Given the description of an element on the screen output the (x, y) to click on. 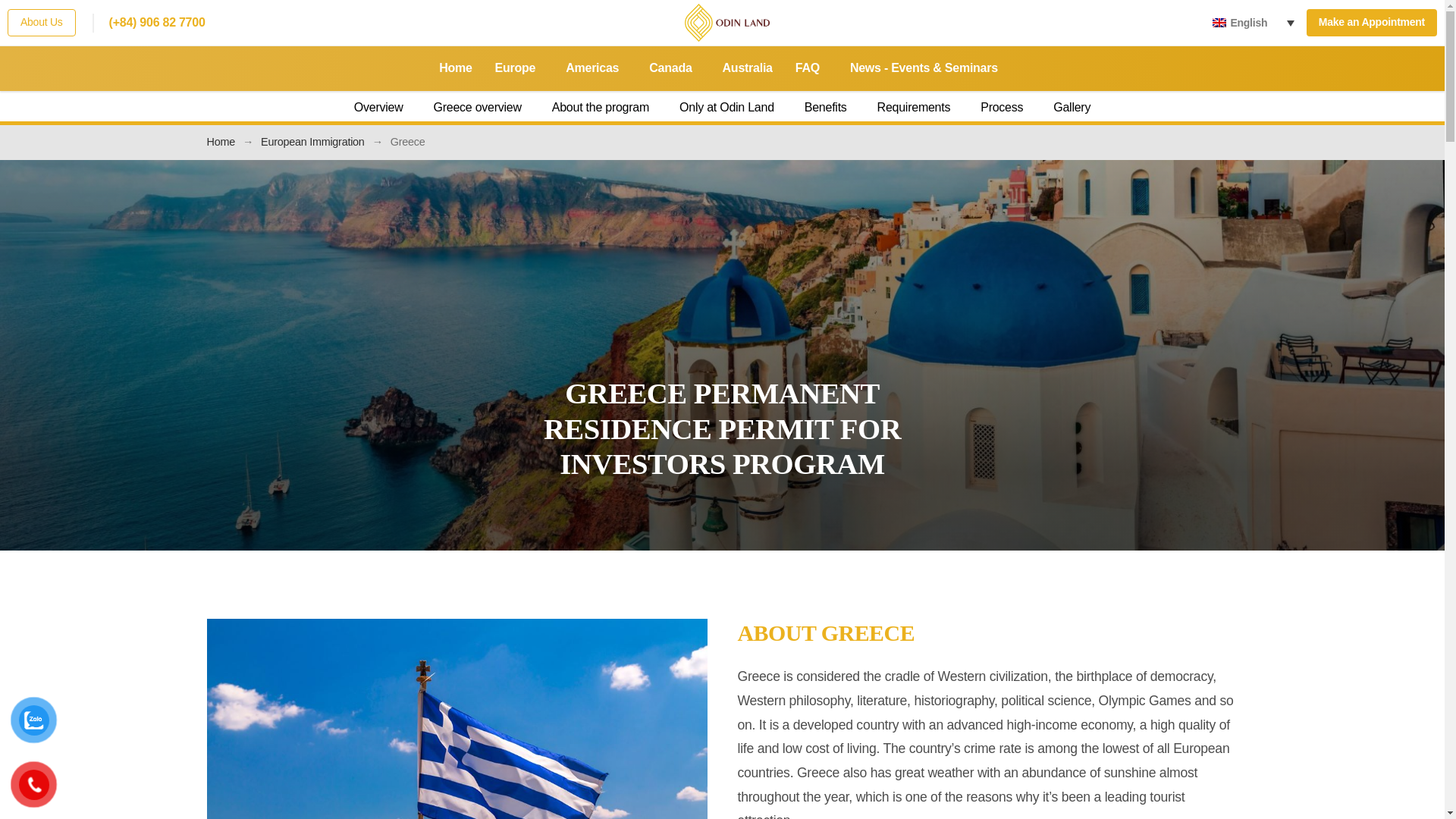
Australia (747, 67)
English (1255, 22)
About Us (41, 22)
Make an Appointment (1371, 22)
Americas (595, 67)
Canada (673, 67)
Europe (518, 67)
Home (455, 67)
FAQ (811, 67)
